Given the description of an element on the screen output the (x, y) to click on. 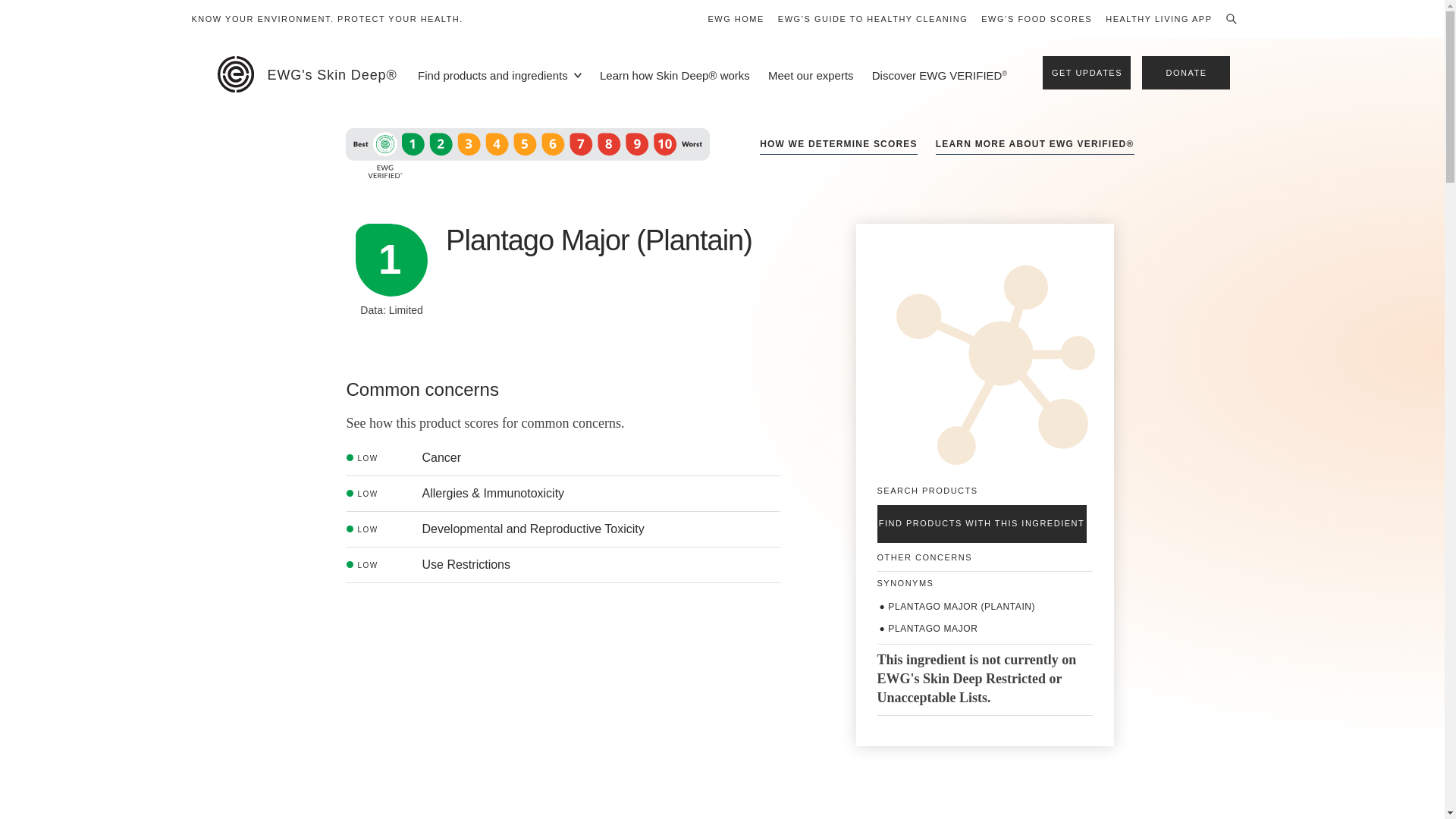
HEALTHY LIVING APP (1158, 18)
EWG HOME (734, 18)
